Given the description of an element on the screen output the (x, y) to click on. 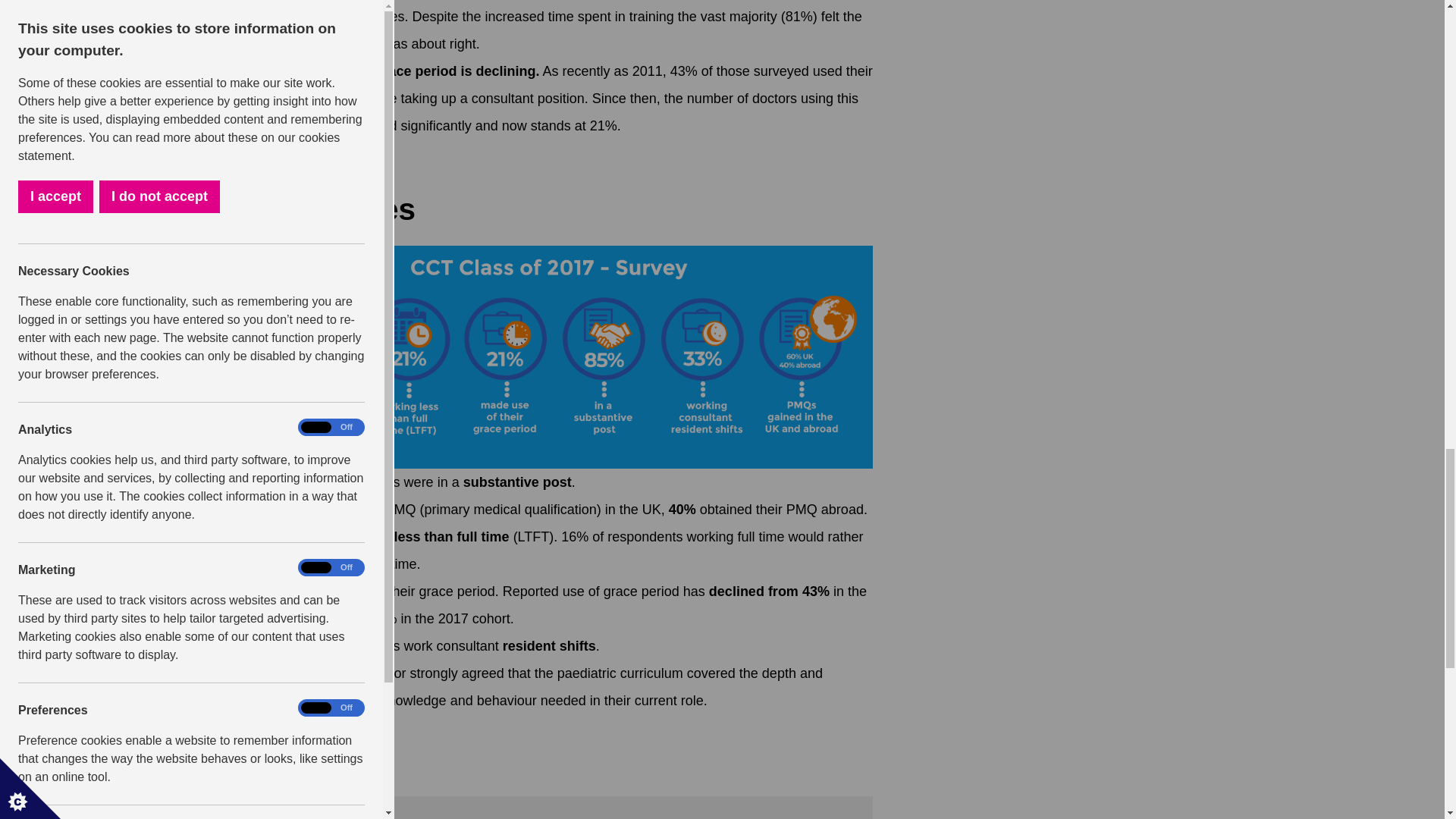
Return back to top (292, 746)
Return back to top (292, 171)
